Given the description of an element on the screen output the (x, y) to click on. 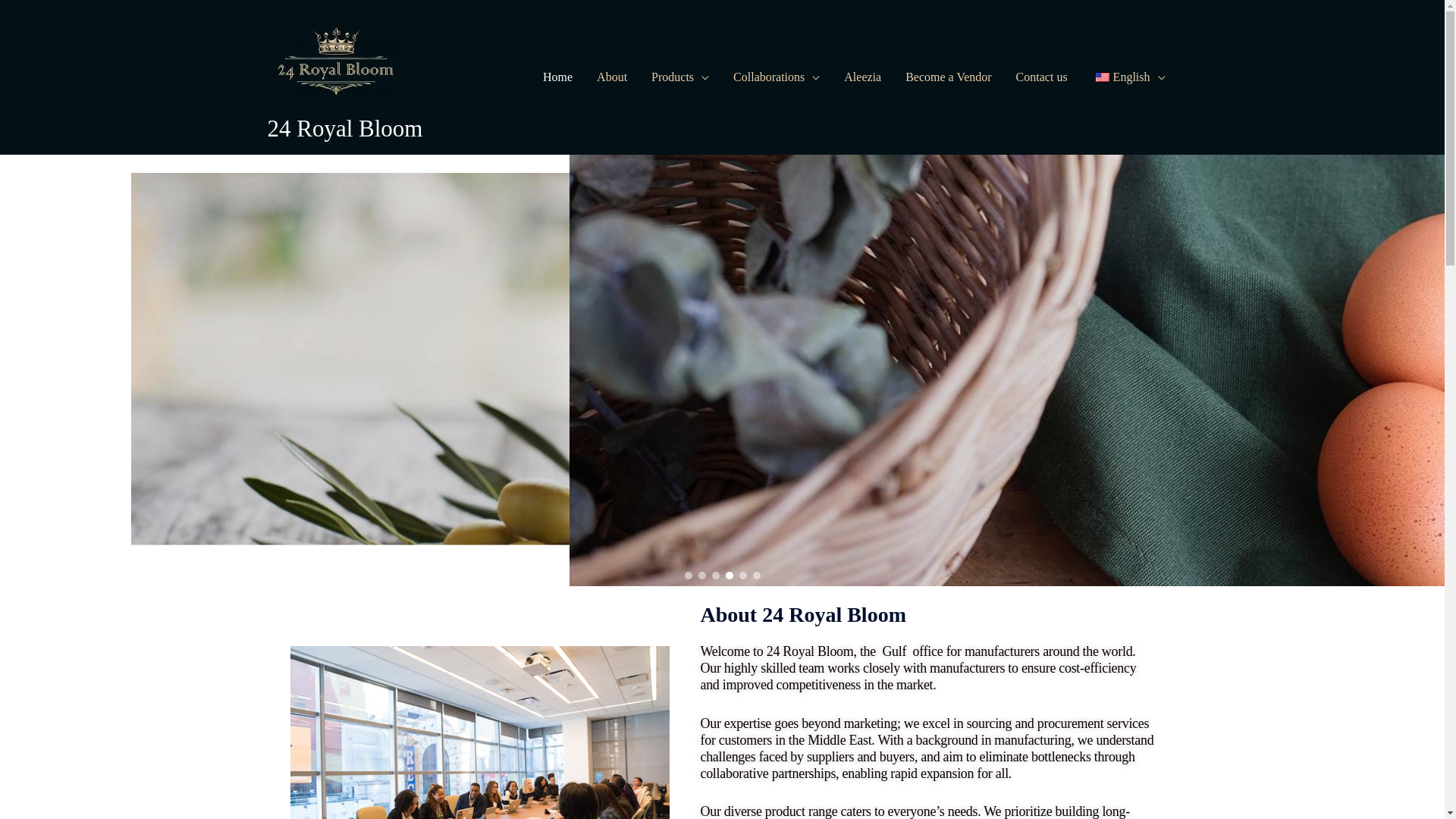
Products Element type: text (680, 77)
English Element type: text (1128, 77)
Read more Element type: text (366, 393)
Home Element type: text (557, 77)
Become a Vendor Element type: text (948, 77)
24 Royal Bloom Element type: text (344, 128)
About Element type: text (611, 77)
Collaborations Element type: text (776, 77)
Olives Element type: text (596, 326)
English Element type: hover (1102, 76)
Contact us Element type: text (1041, 77)
Aleezia Element type: text (862, 77)
